Given the description of an element on the screen output the (x, y) to click on. 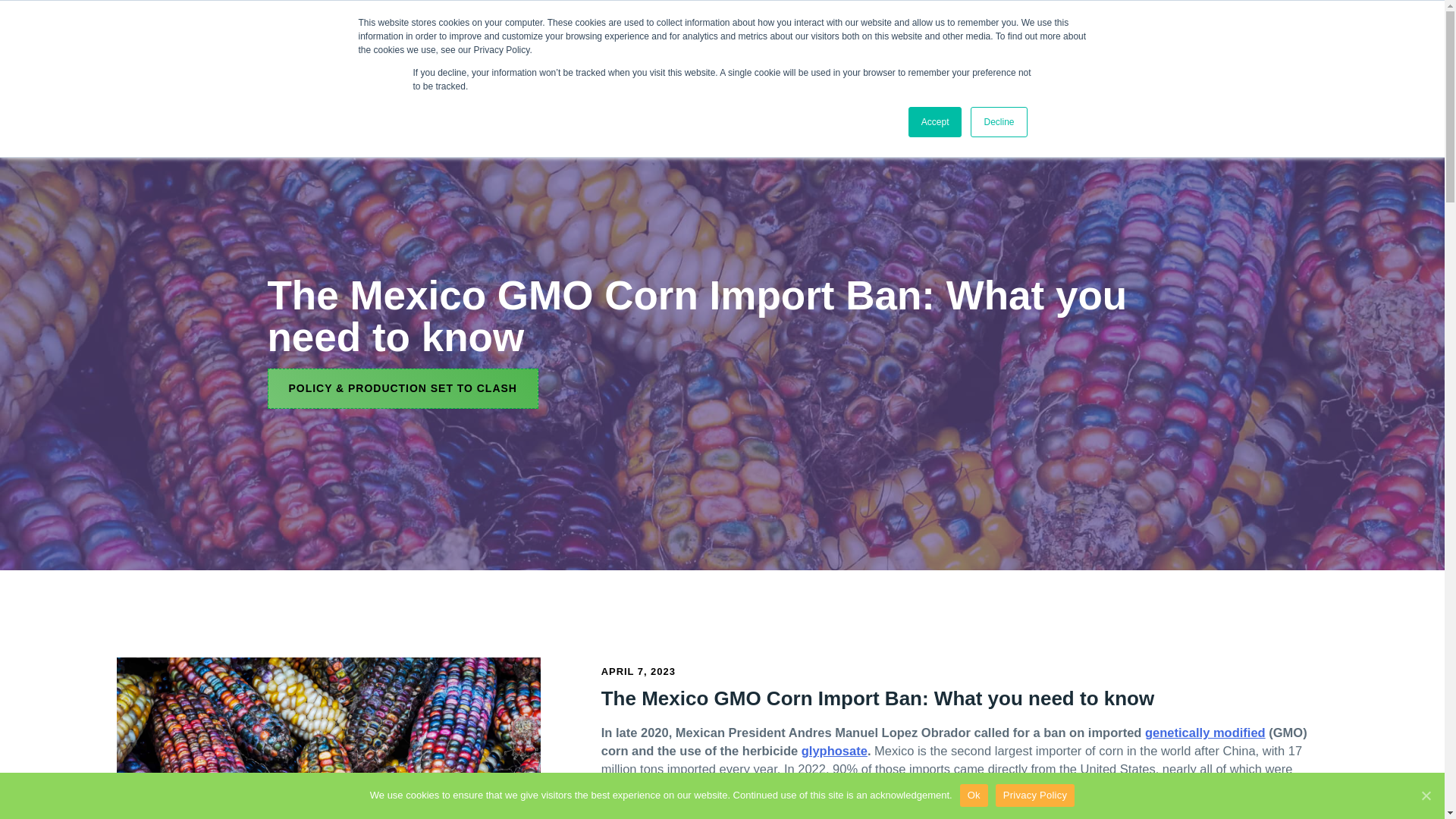
Search (1396, 55)
LAB SERVICES (864, 55)
CATALOG (1003, 55)
DATA (941, 55)
Decline (998, 122)
FOOD QUALITY (758, 55)
Accept (935, 122)
EnviroLogix (165, 52)
Search (1396, 55)
GMO TESTING (510, 55)
MYCOTOXIN TESTING (632, 55)
